Given the description of an element on the screen output the (x, y) to click on. 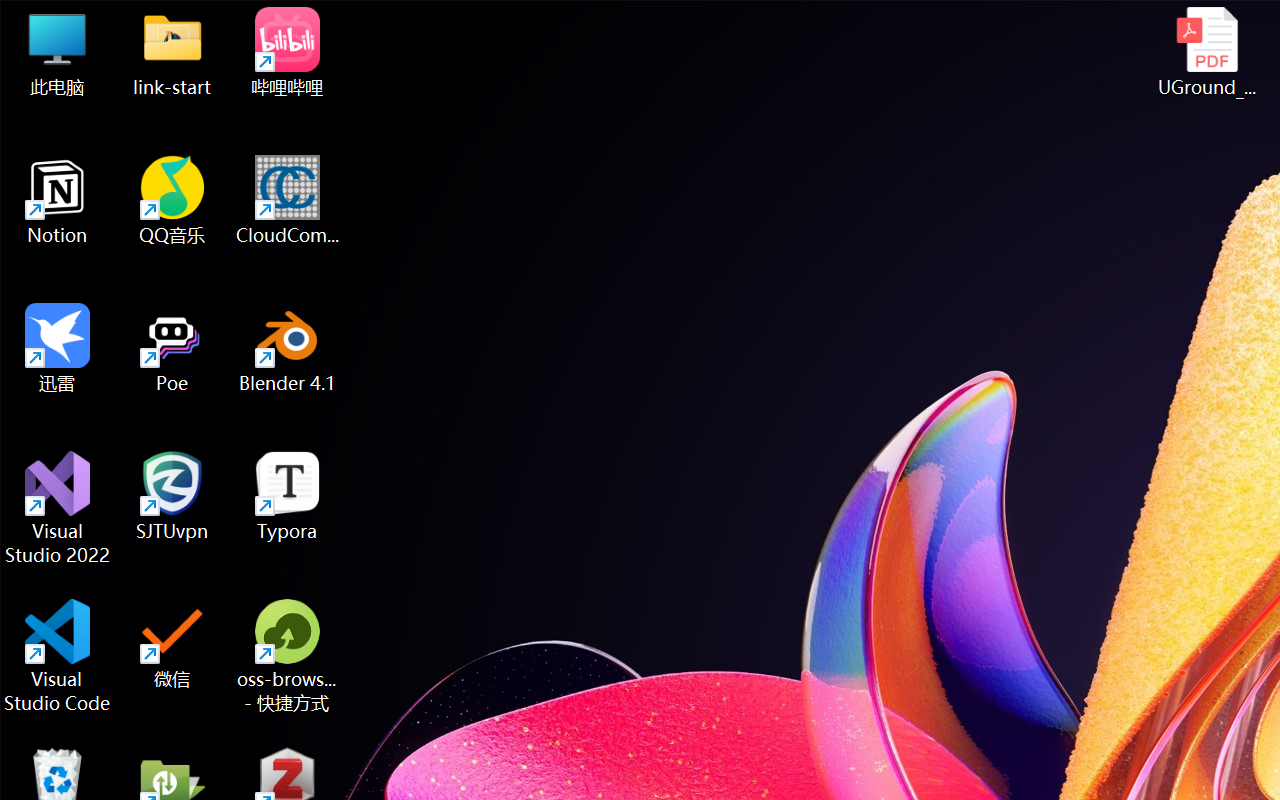
Privacy Checkup (820, 22)
Atour Hotel - Google hotels (1190, 22)
Comparison (1009, 721)
Privacy Policy (152, 239)
Privacy & Terms (134, 134)
Technologies (472, 183)
Key terms (152, 340)
Current version (971, 476)
FAQ (575, 183)
